Given the description of an element on the screen output the (x, y) to click on. 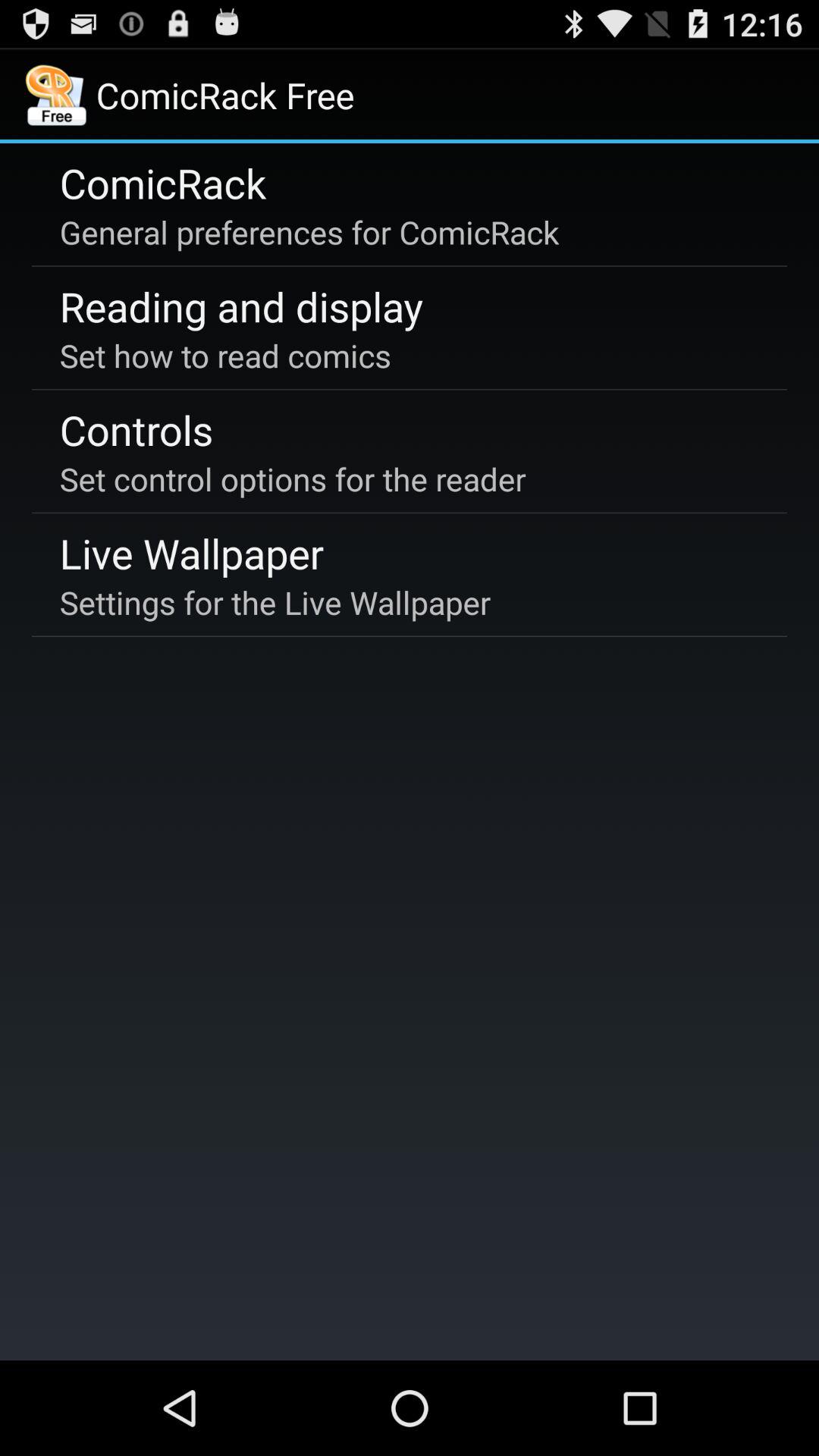
click app above the reading and display app (309, 231)
